Given the description of an element on the screen output the (x, y) to click on. 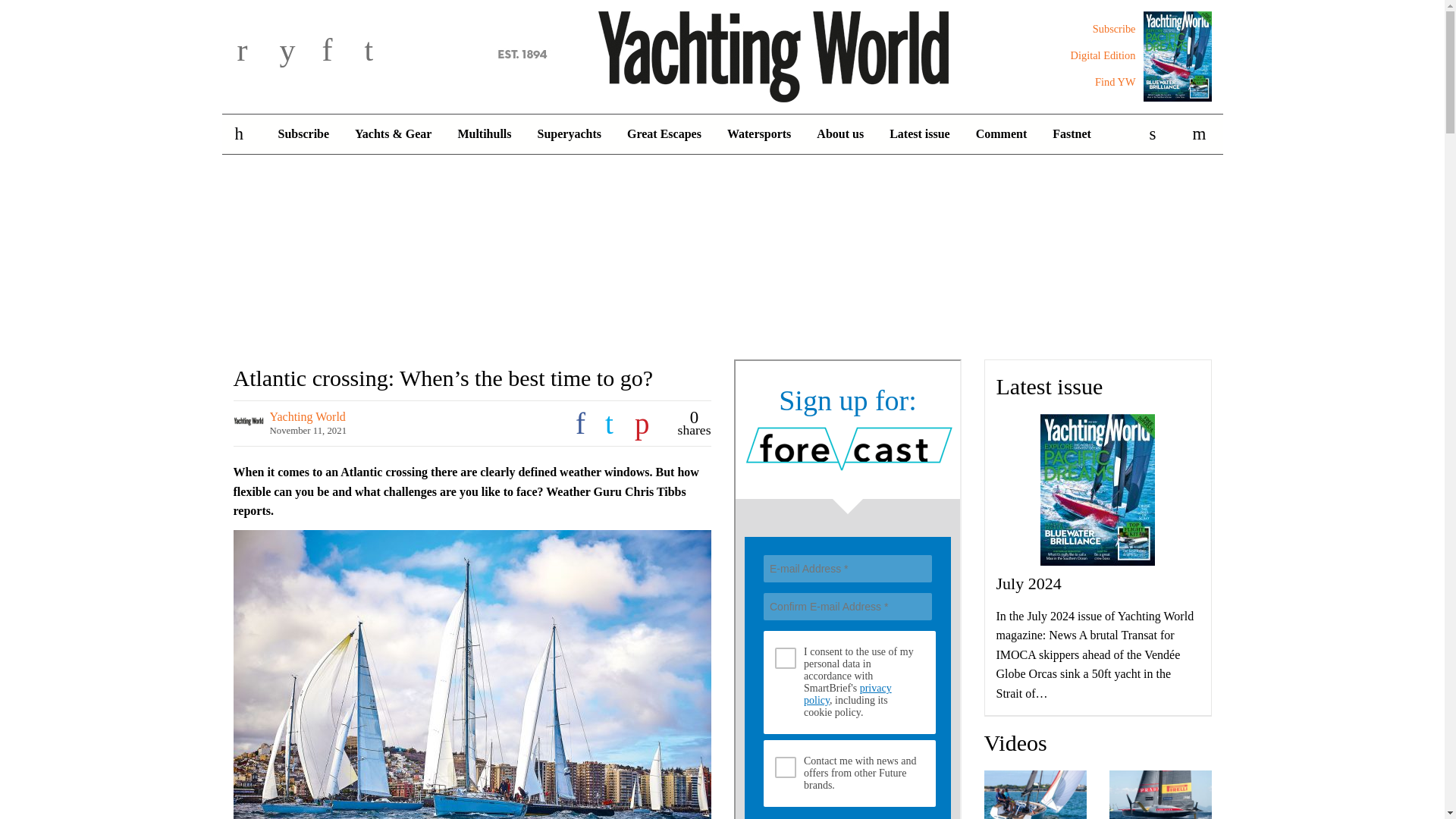
Digital Edition (1102, 55)
Find YW (1114, 81)
f (339, 52)
Yachting World's Profile (307, 416)
Subscribe (1114, 28)
t (382, 52)
Yachting World (721, 53)
Digital Edition (1102, 55)
Subscribe (1114, 28)
Find YW (1114, 81)
Superyachts (569, 133)
Great Escapes (664, 133)
Yachting World (721, 53)
Subscribe (303, 133)
y (297, 52)
